Given the description of an element on the screen output the (x, y) to click on. 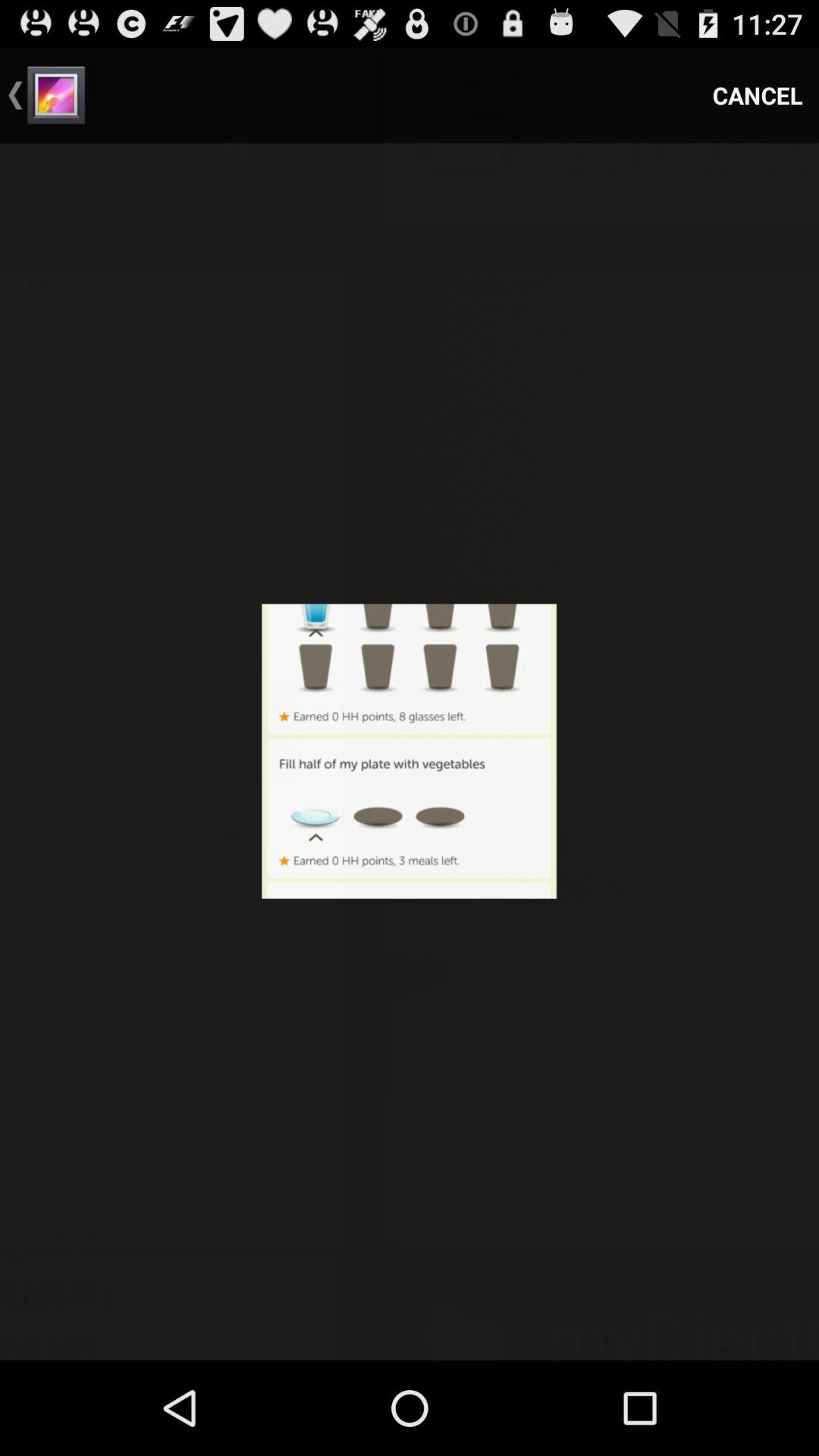
choose icon at the top right corner (757, 95)
